Given the description of an element on the screen output the (x, y) to click on. 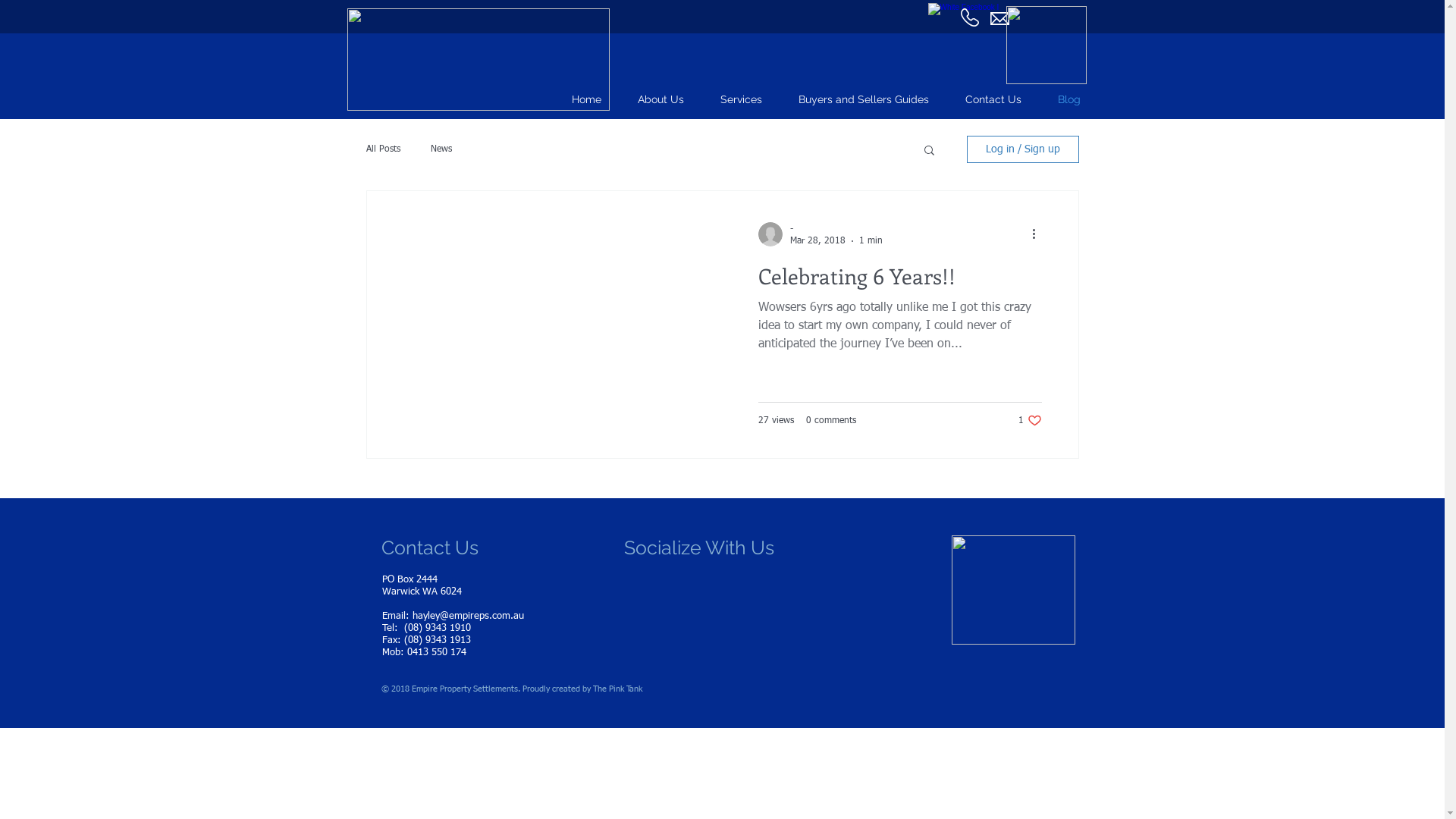
Blog Element type: text (1068, 99)
Home Element type: text (586, 99)
About Us Element type: text (660, 99)
Services Element type: text (741, 99)
All Posts Element type: text (382, 149)
Contact Us Element type: text (993, 99)
1 like. Post not marked as liked
1 Element type: text (1029, 420)
Log in / Sign up Element type: text (1022, 149)
Buyers and Sellers Guides Element type: text (863, 99)
News Element type: text (440, 149)
Celebrating 6 Years!! Element type: text (899, 279)
0 comments Element type: text (831, 420)
hayley@empireps.com.au Element type: text (468, 616)
